Given the description of an element on the screen output the (x, y) to click on. 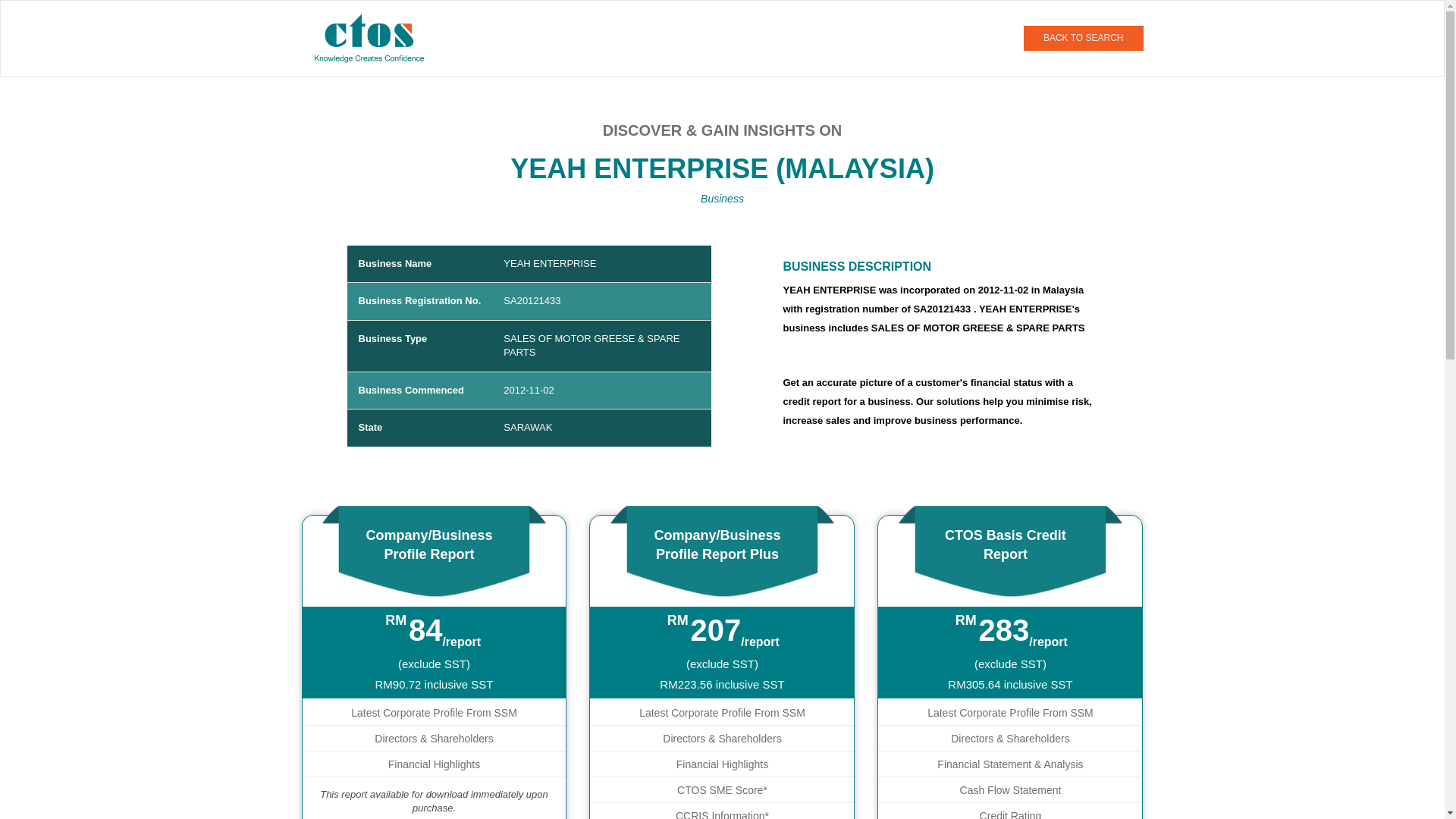
CTOS - Malaysia's Leading Credit Reporting Agency (374, 37)
BACK TO SEARCH (1082, 37)
